Given the description of an element on the screen output the (x, y) to click on. 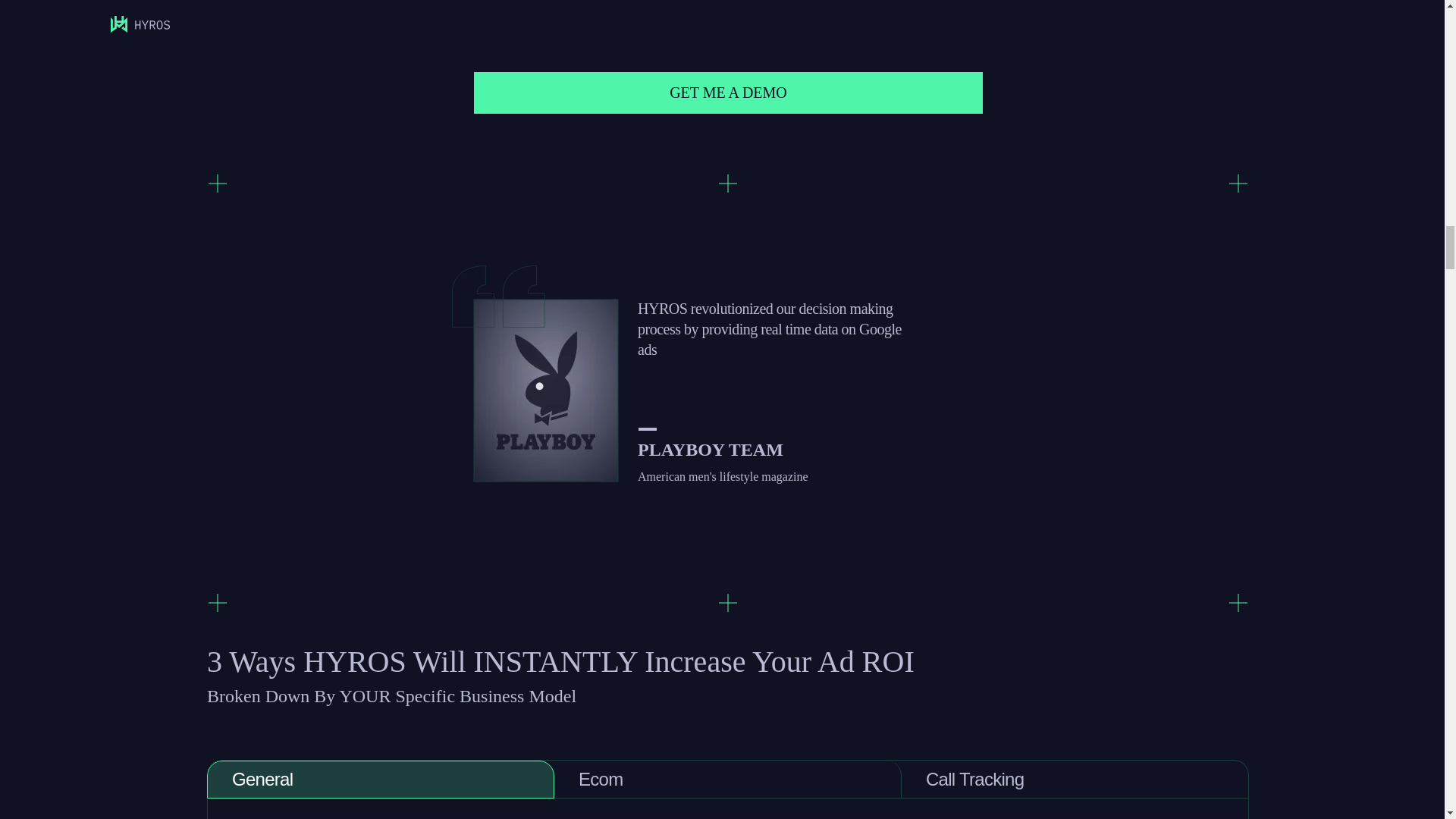
GET ME A DEMO (729, 92)
Ecom (727, 779)
General (380, 779)
Call Tracking (1075, 779)
